Given the description of an element on the screen output the (x, y) to click on. 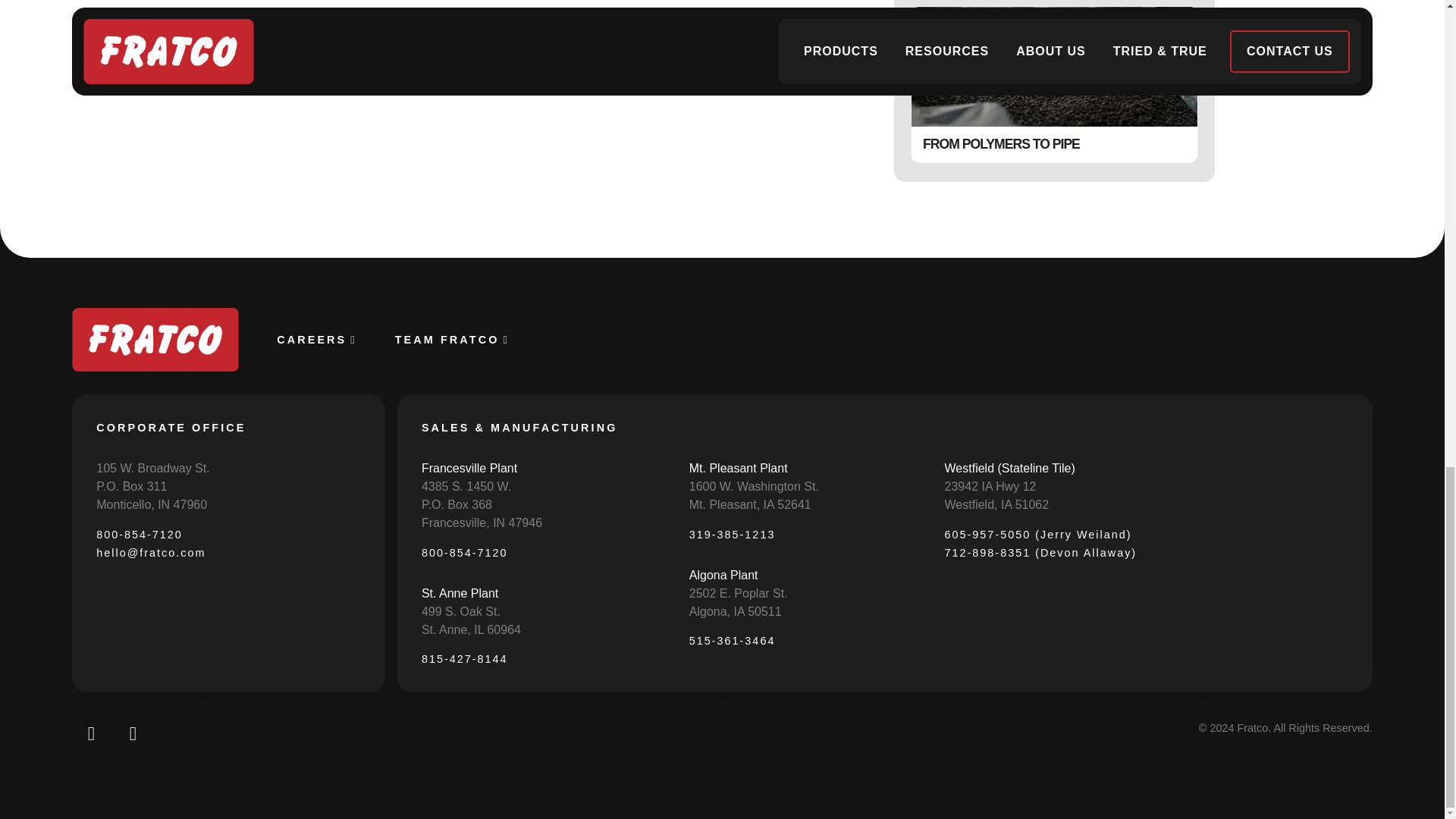
Fratco Logo (154, 339)
